Given the description of an element on the screen output the (x, y) to click on. 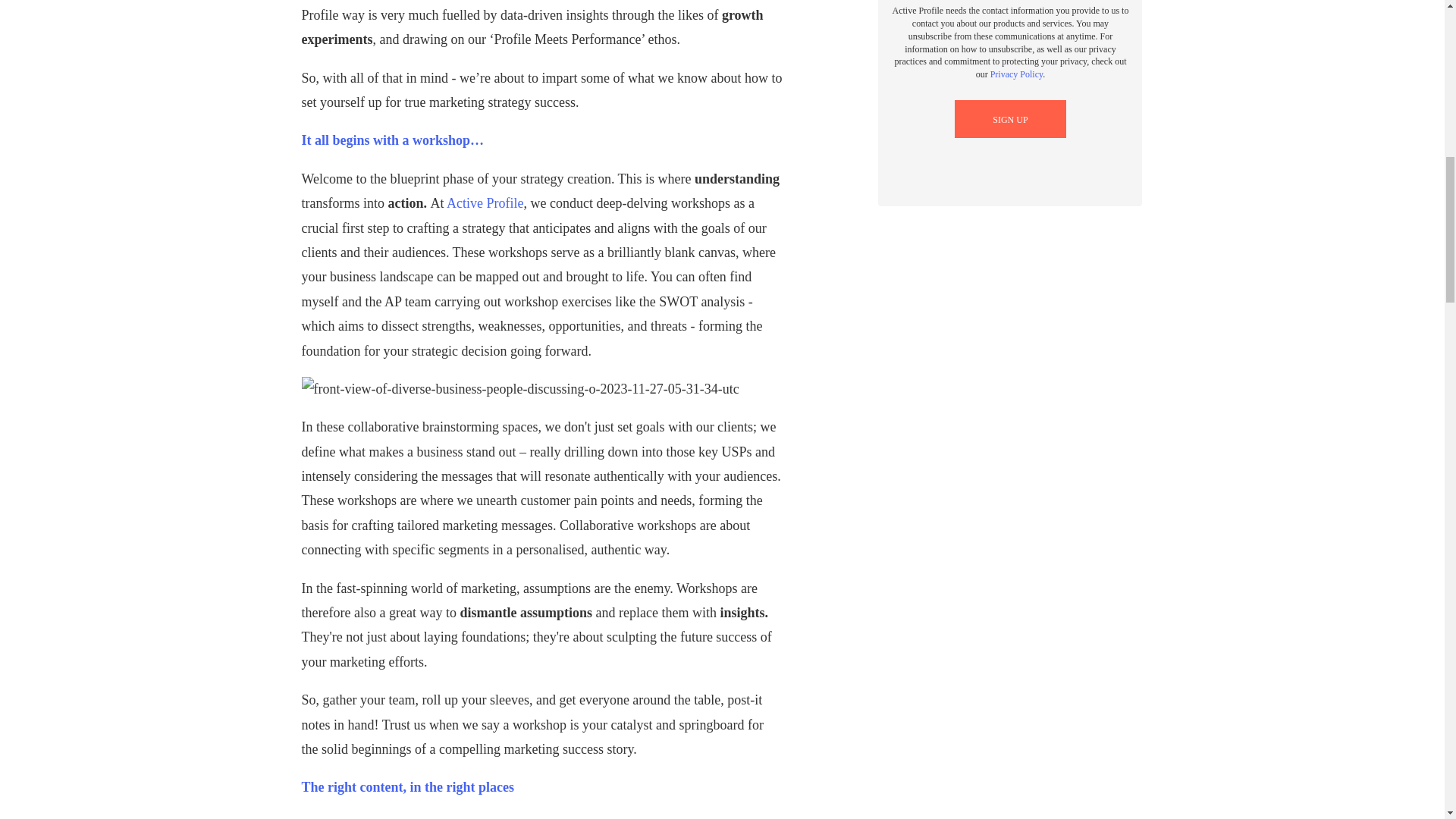
Privacy Policy (1016, 73)
Active Profile (484, 202)
SIGN UP (1010, 119)
SIGN UP (1010, 119)
